Given the description of an element on the screen output the (x, y) to click on. 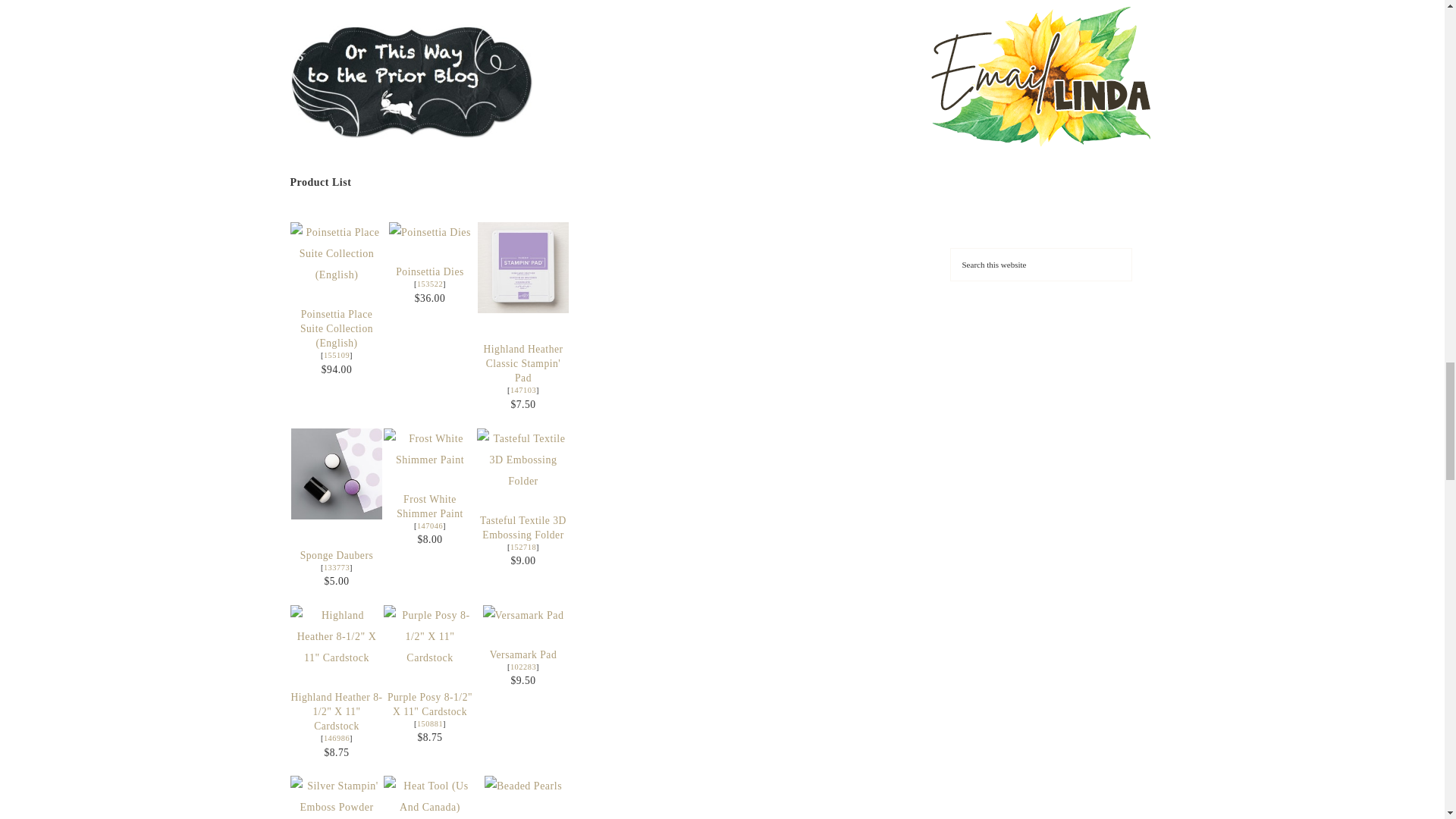
Highland Heather Classic Stampin' Pad (522, 363)
Frost White Shimmer Paint (429, 506)
Highland Heather Classic Stampin' Pad (523, 309)
Highland Heather Classic Stampin' Pad (523, 266)
133773 (336, 567)
Poinsettia Dies (429, 284)
153522 (429, 284)
Poinsettia Dies (429, 271)
Poinsettia Dies (429, 232)
Poinsettia Dies (429, 232)
155109 (336, 355)
Poinsettia Dies (429, 271)
147046 (429, 525)
